Given the description of an element on the screen output the (x, y) to click on. 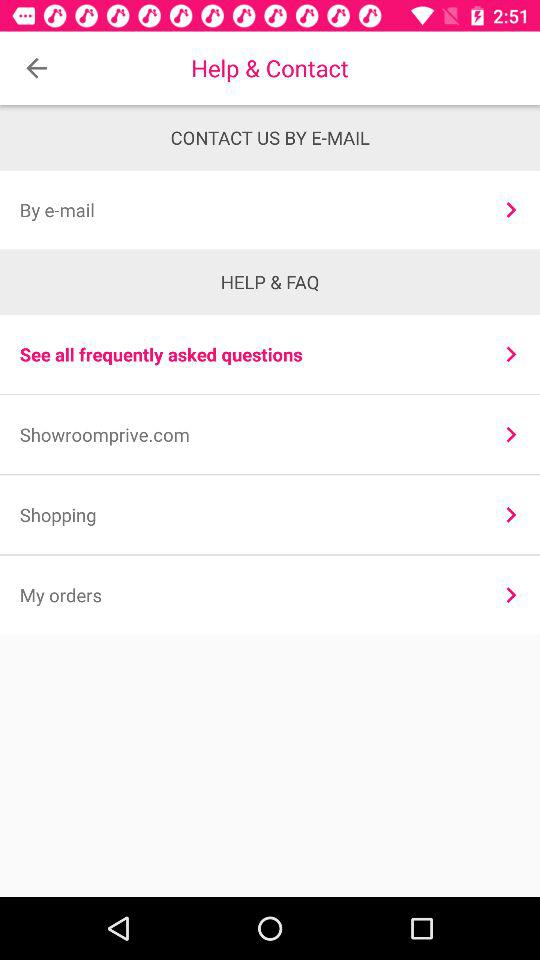
swipe until showroomprive.com icon (247, 434)
